Given the description of an element on the screen output the (x, y) to click on. 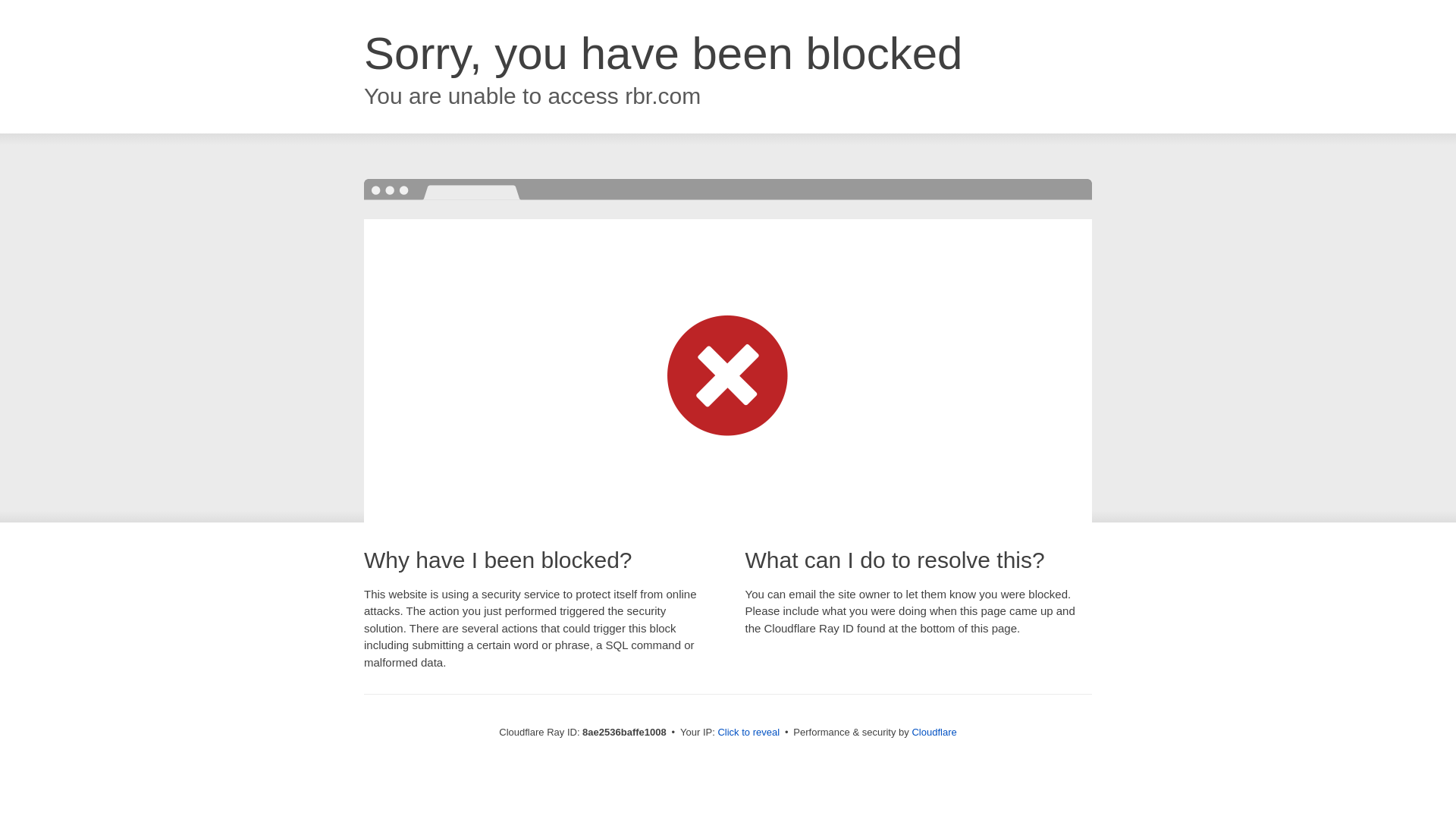
Cloudflare (933, 731)
Click to reveal (747, 732)
